Given the description of an element on the screen output the (x, y) to click on. 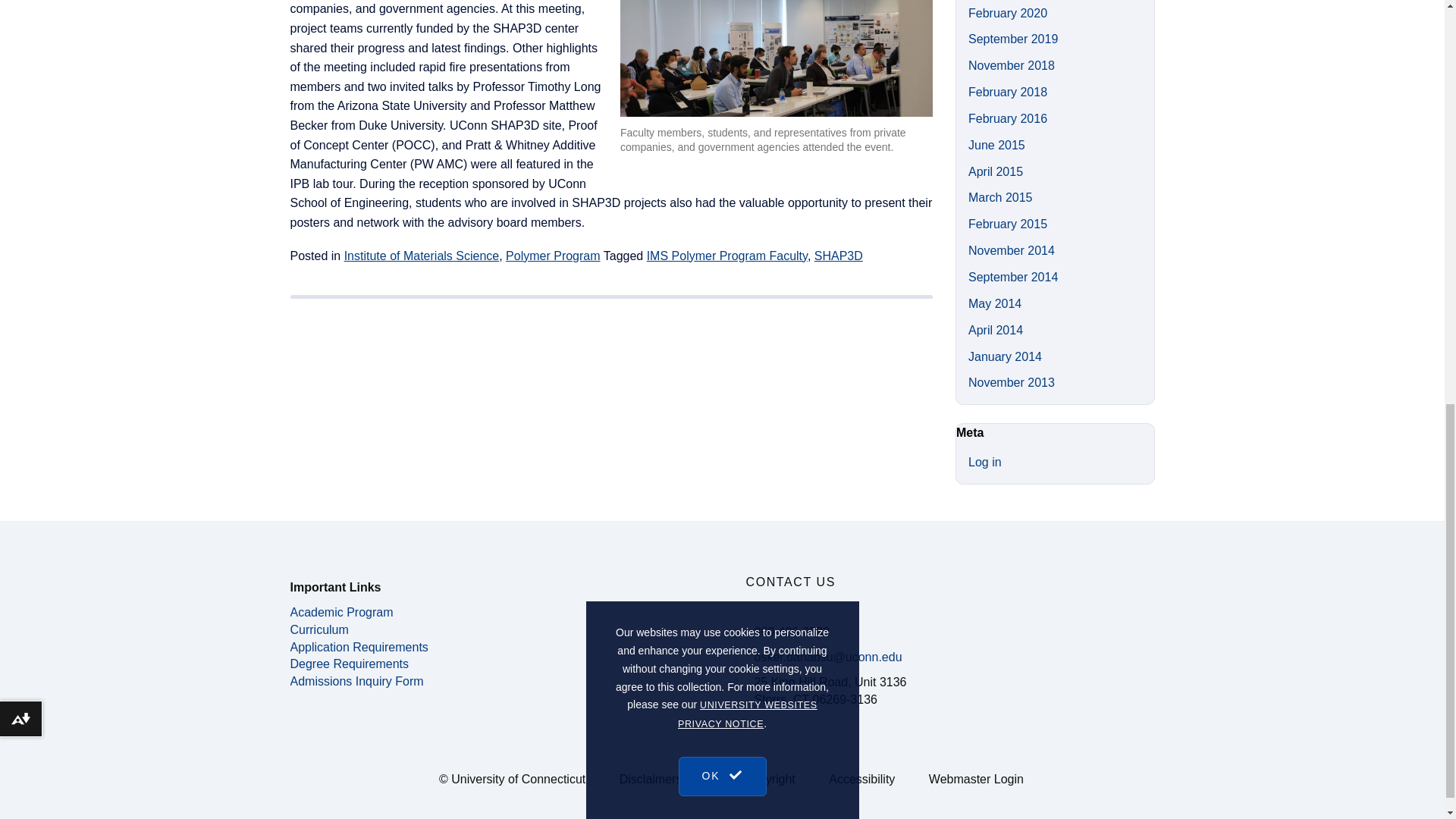
Institute of Materials Science (421, 255)
OK (721, 10)
